Given the description of an element on the screen output the (x, y) to click on. 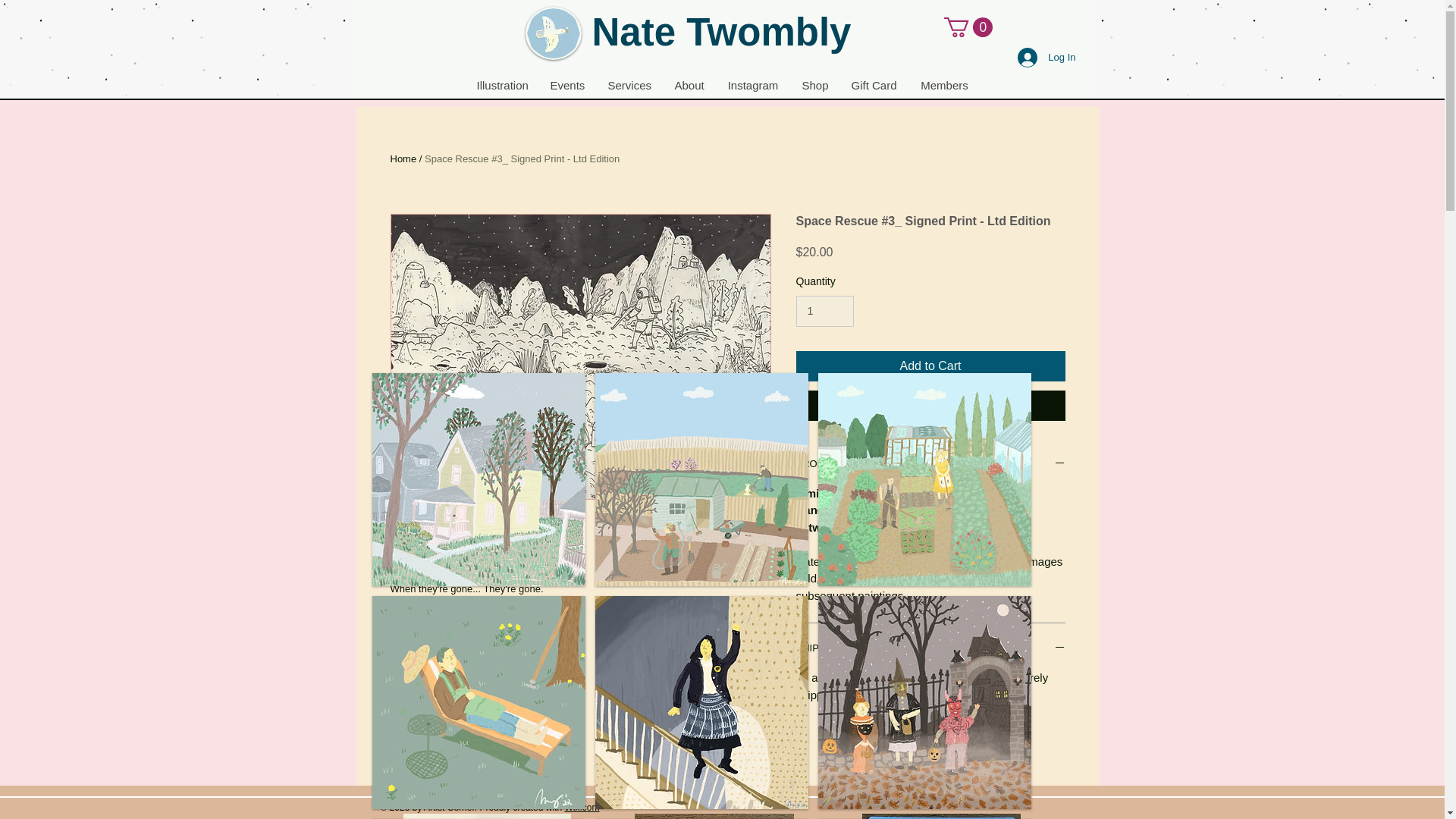
Gift Card (872, 85)
PRODUCT INFO (930, 464)
Wix.com (581, 807)
About (689, 85)
Log In (1046, 57)
1 (824, 310)
Home (403, 158)
Buy Now (930, 405)
Add to Cart (930, 366)
Dancing.jpg (552, 32)
0 (967, 26)
Services (628, 85)
Instagram (753, 85)
Members (943, 85)
SHIPPING INFO (930, 648)
